Given the description of an element on the screen output the (x, y) to click on. 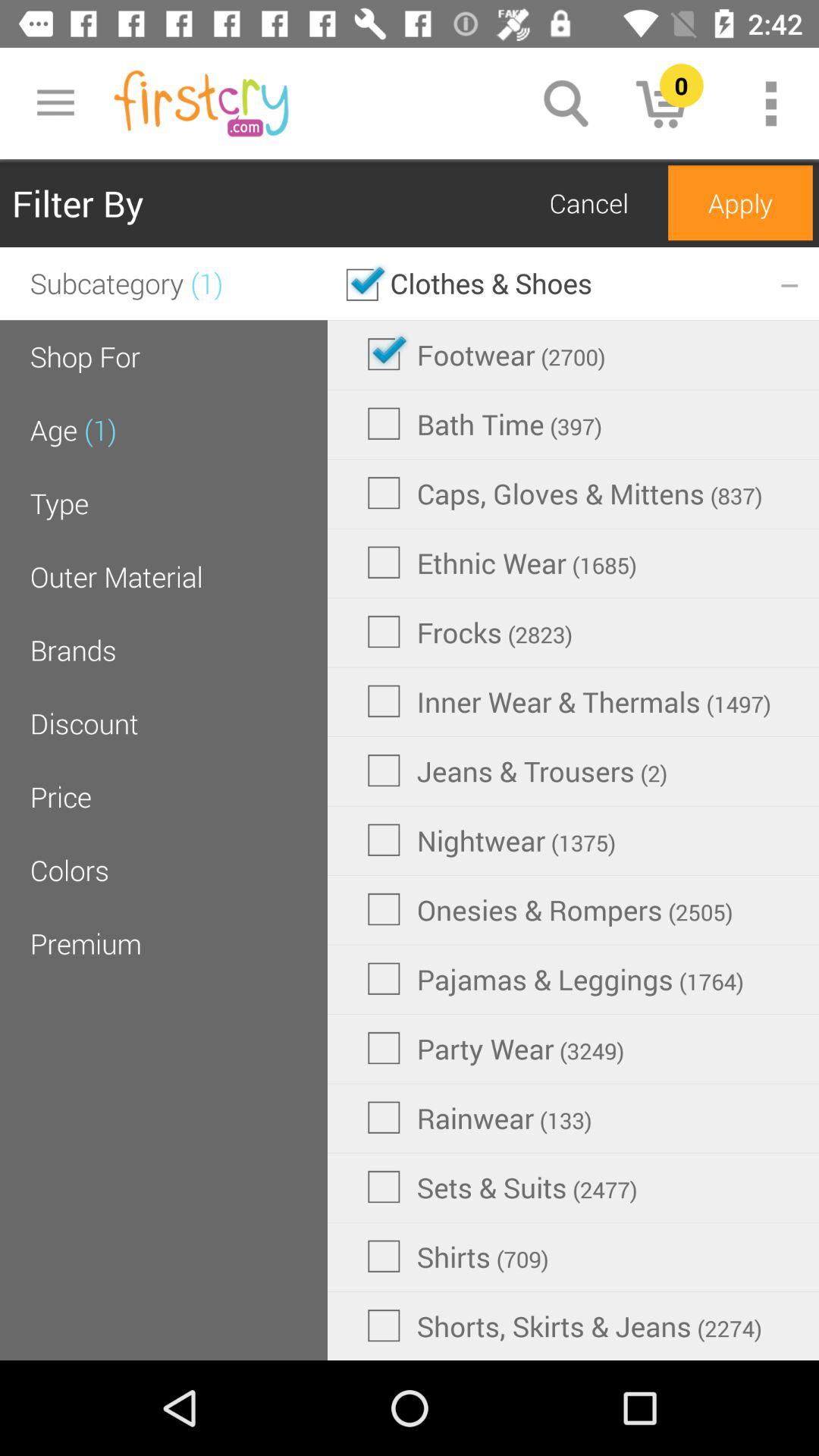
launch the icon below sets & suits (2477) item (457, 1256)
